Given the description of an element on the screen output the (x, y) to click on. 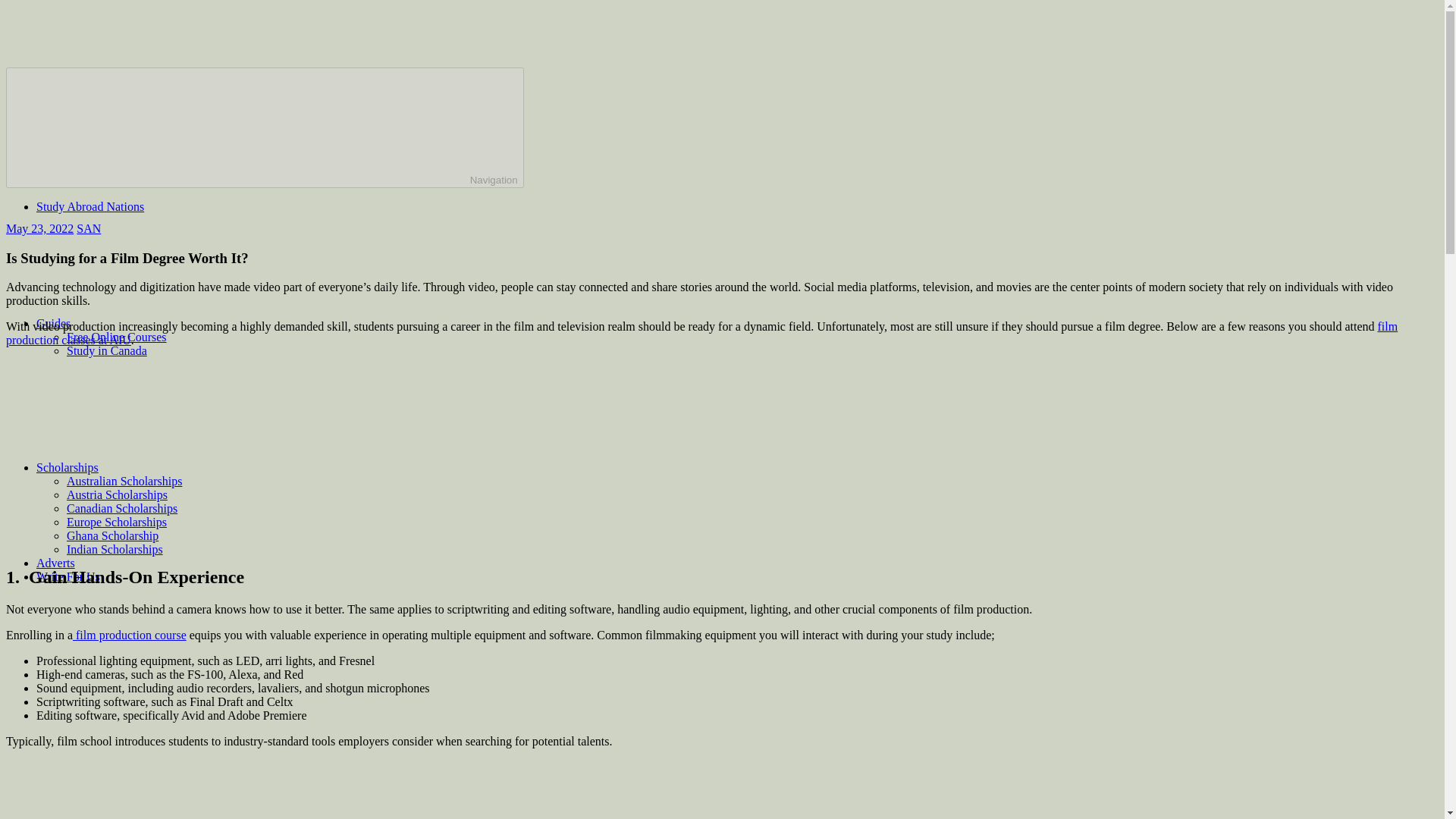
film production classes at AIU (701, 333)
SAN (88, 228)
View all posts by SAN (88, 228)
Write For Us (68, 576)
Study in Canada (106, 350)
2:50 pm (39, 228)
Adverts (55, 562)
Indian Scholarships (114, 549)
Ghana Scholarship (112, 535)
May 23, 2022 (39, 228)
